Given the description of an element on the screen output the (x, y) to click on. 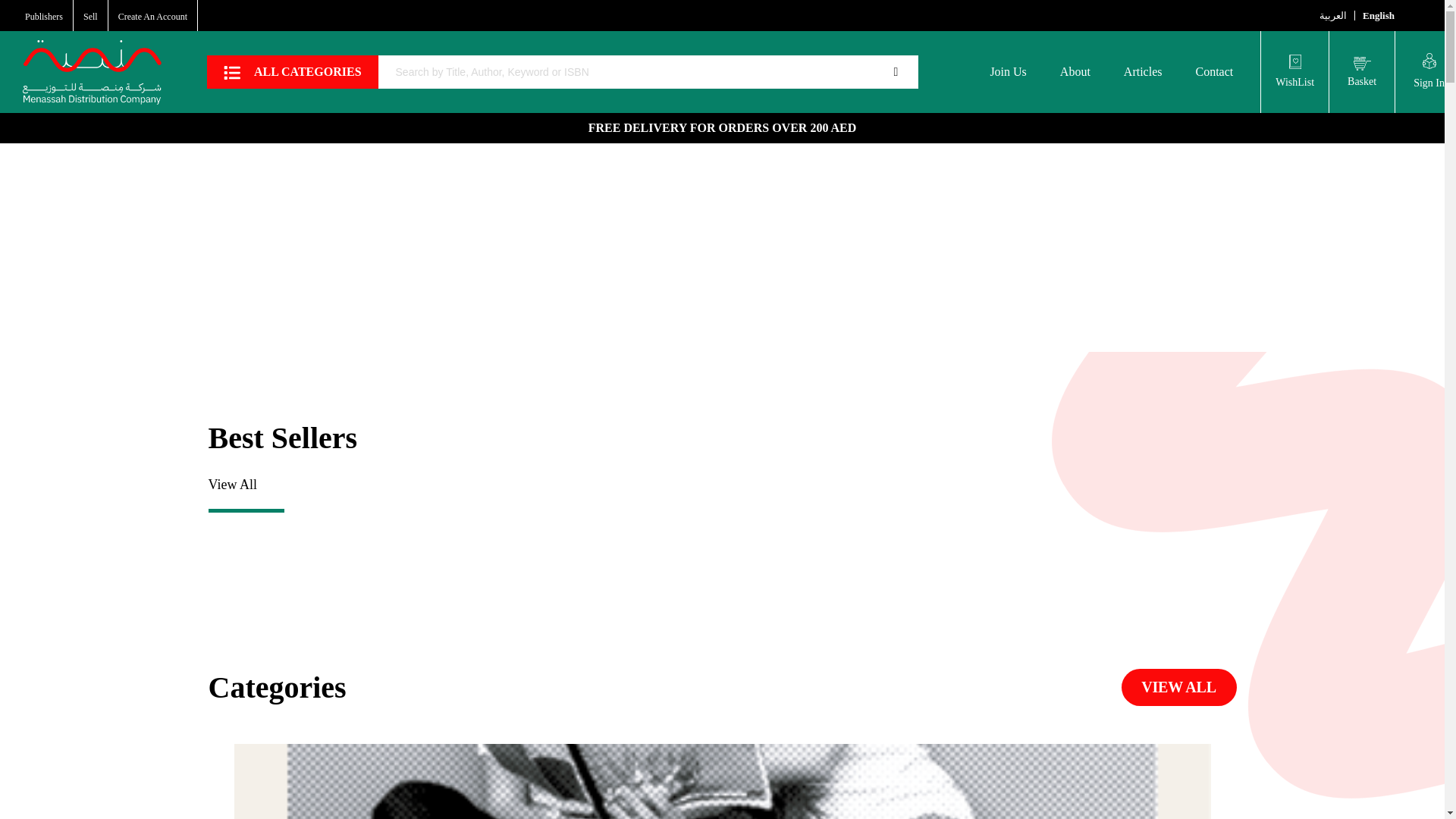
Publishers (43, 16)
English (1378, 14)
Create An Account (152, 16)
Sell (89, 16)
